Given the description of an element on the screen output the (x, y) to click on. 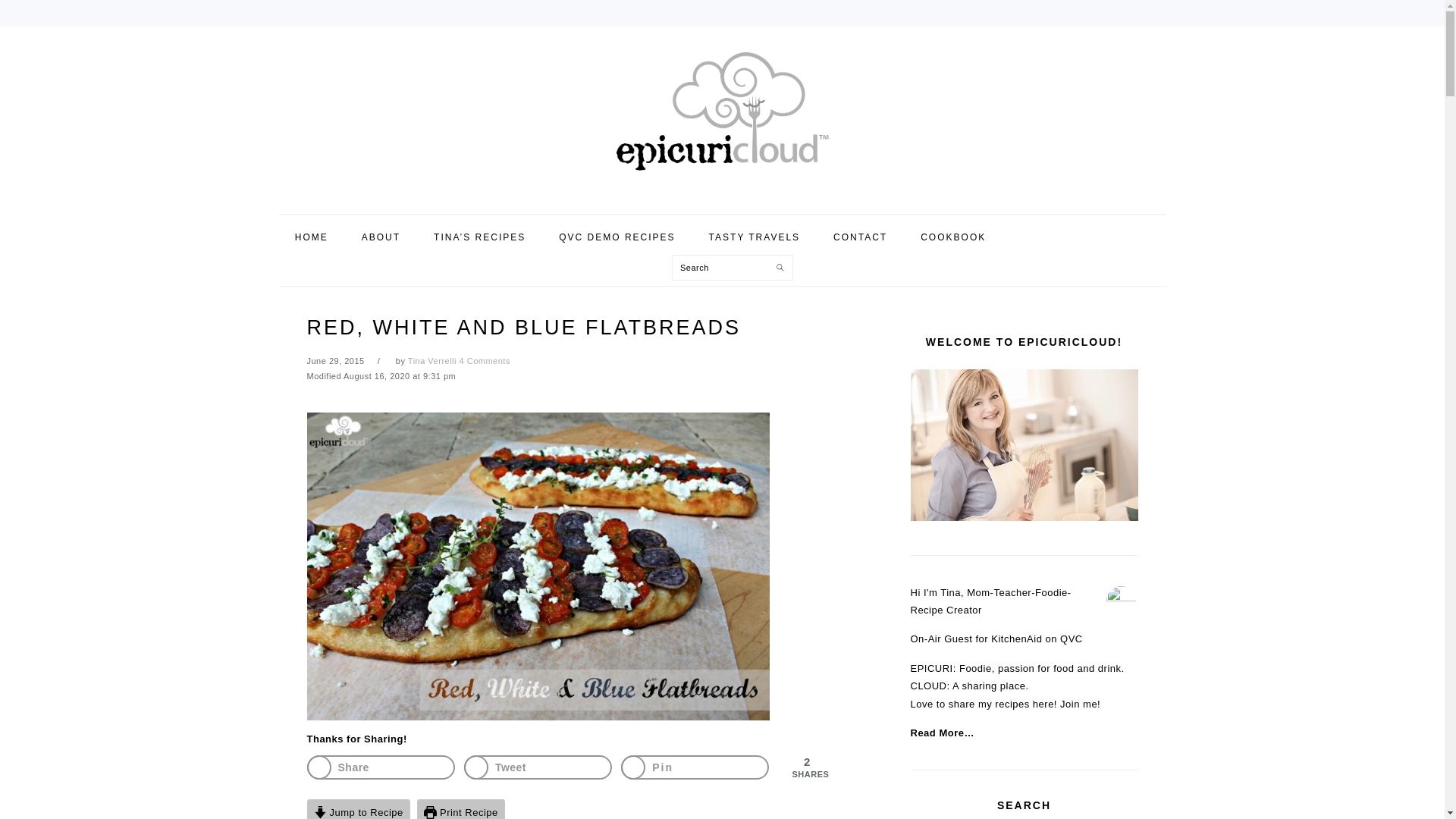
4 Comments (485, 360)
TASTY TRAVELS (754, 237)
Jump to Recipe (357, 809)
QVC DEMO RECIPES (616, 237)
Print Recipe (460, 809)
tina-3811f-vintage-NEW-bcp (1023, 444)
Share (379, 767)
Tweet (537, 767)
CONTACT (859, 237)
Save to Pinterest (694, 767)
Tina Verrelli (432, 360)
